Given the description of an element on the screen output the (x, y) to click on. 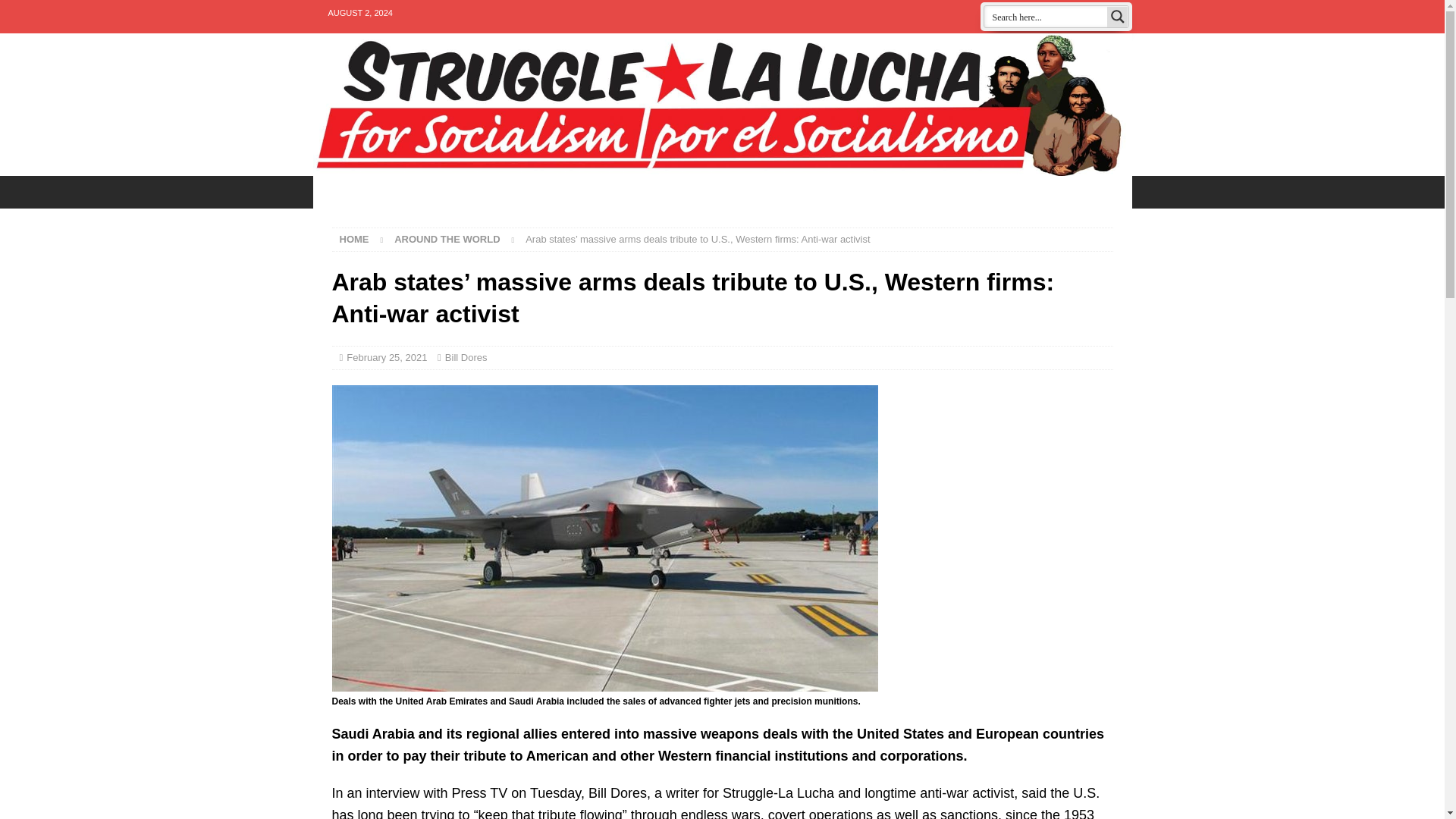
Home (354, 238)
MARXISM (995, 192)
EVENTS (349, 192)
ABOUT (605, 192)
ARCHIVE (769, 192)
Around the world (446, 238)
AROUND THE WORLD (446, 238)
Bill Dores (466, 357)
PDF (835, 192)
LINKTR.EE (686, 192)
HOME (354, 238)
February 25, 2021 (386, 357)
CONTACT (525, 192)
SUBSCRIBE (908, 192)
